Given the description of an element on the screen output the (x, y) to click on. 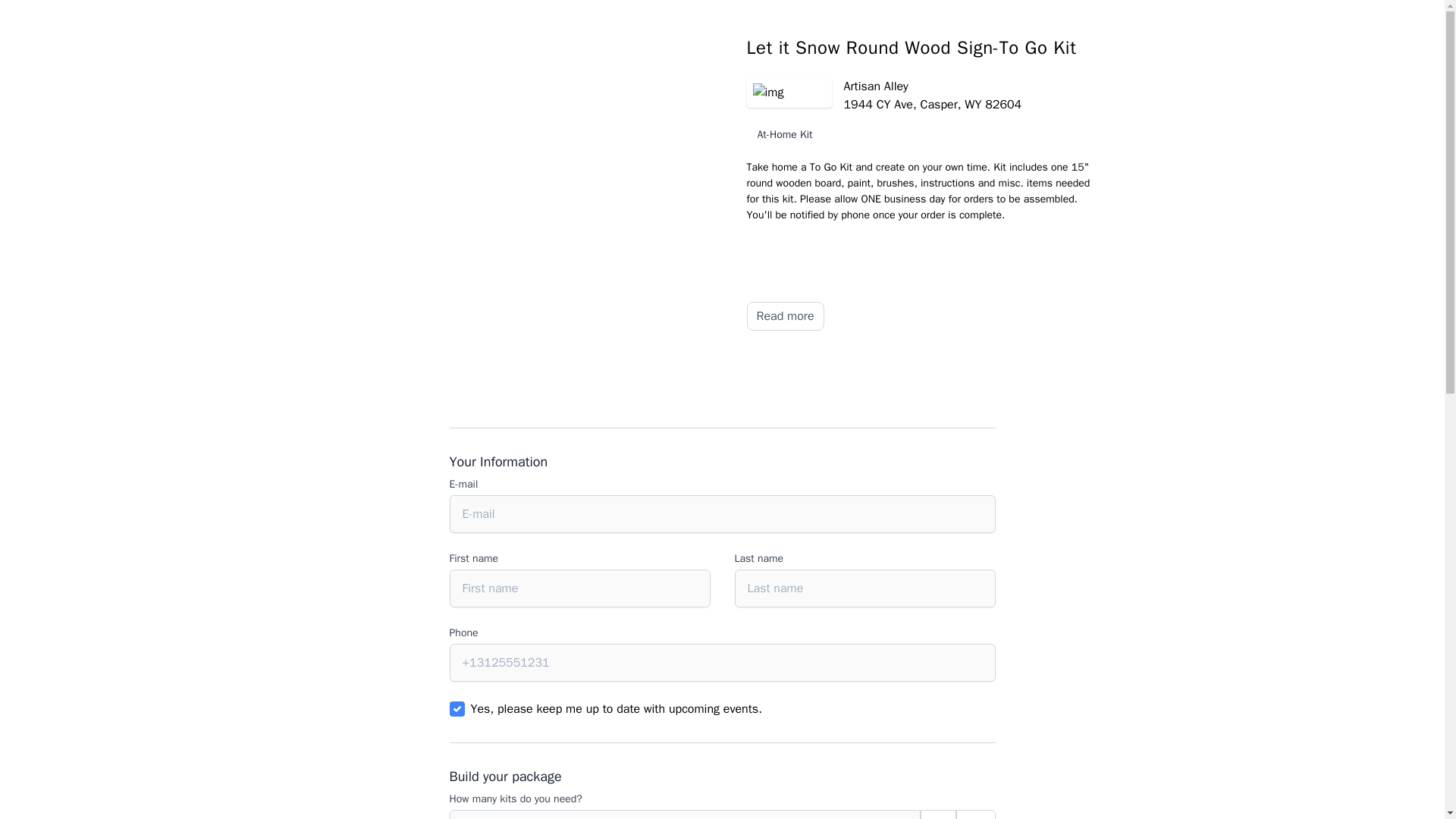
1 (456, 708)
- (938, 814)
0 (684, 814)
Read more (784, 316)
